Given the description of an element on the screen output the (x, y) to click on. 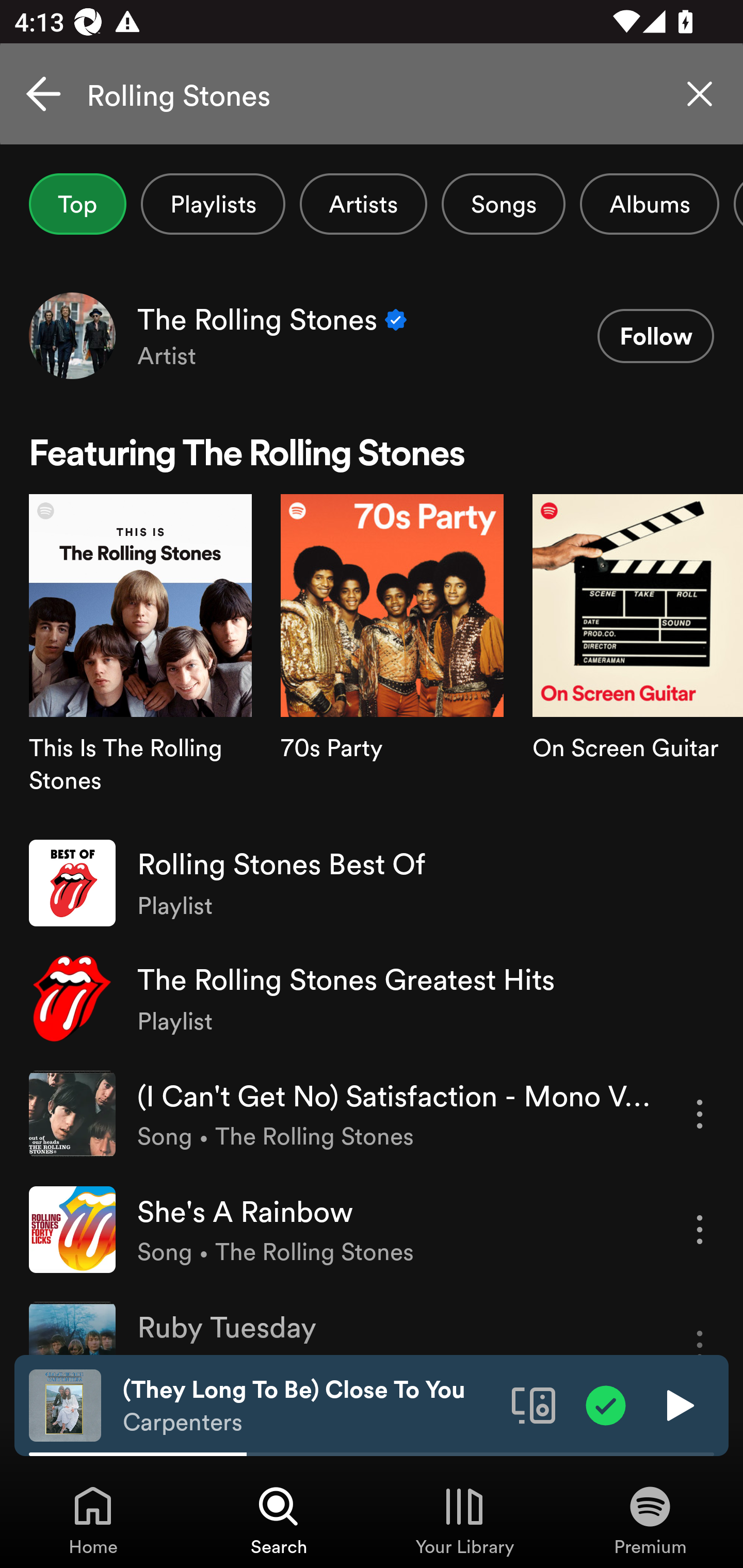
Rolling Stones (371, 93)
Cancel (43, 93)
Clear search query (699, 93)
Top (77, 203)
Playlists (213, 203)
Artists (363, 203)
Songs (503, 203)
Albums (649, 203)
The Rolling Stones Verified Artist Follow Follow (371, 335)
Follow (655, 335)
Search card image This Is The Rolling Stones (139, 658)
Search card image 70s Party (391, 658)
Search card image On Screen Guitar  (637, 658)
Rolling Stones Best Of Playlist (371, 882)
The Rolling Stones Greatest Hits Playlist (371, 998)
More options for song She's A Rainbow (699, 1229)
More options for song Ruby Tuesday (699, 1327)
(They Long To Be) Close To You Carpenters (309, 1405)
The cover art of the currently playing track (64, 1404)
Connect to a device. Opens the devices menu (533, 1404)
Item added (605, 1404)
Play (677, 1404)
Home, Tab 1 of 4 Home Home (92, 1519)
Search, Tab 2 of 4 Search Search (278, 1519)
Your Library, Tab 3 of 4 Your Library Your Library (464, 1519)
Premium, Tab 4 of 4 Premium Premium (650, 1519)
